Given the description of an element on the screen output the (x, y) to click on. 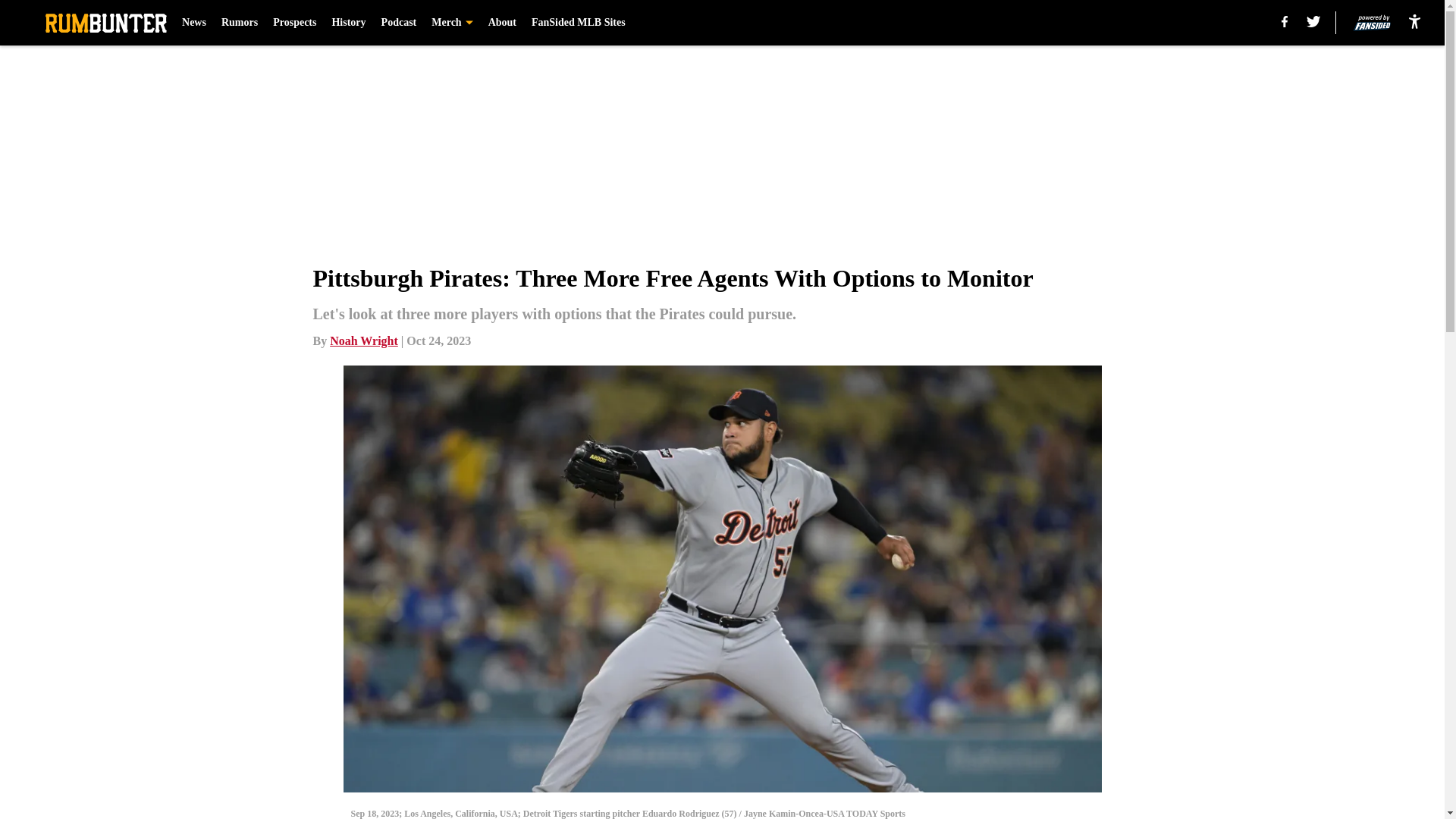
Prospects (294, 22)
About (501, 22)
Podcast (398, 22)
News (194, 22)
History (348, 22)
FanSided MLB Sites (578, 22)
Noah Wright (363, 340)
Rumors (239, 22)
